Given the description of an element on the screen output the (x, y) to click on. 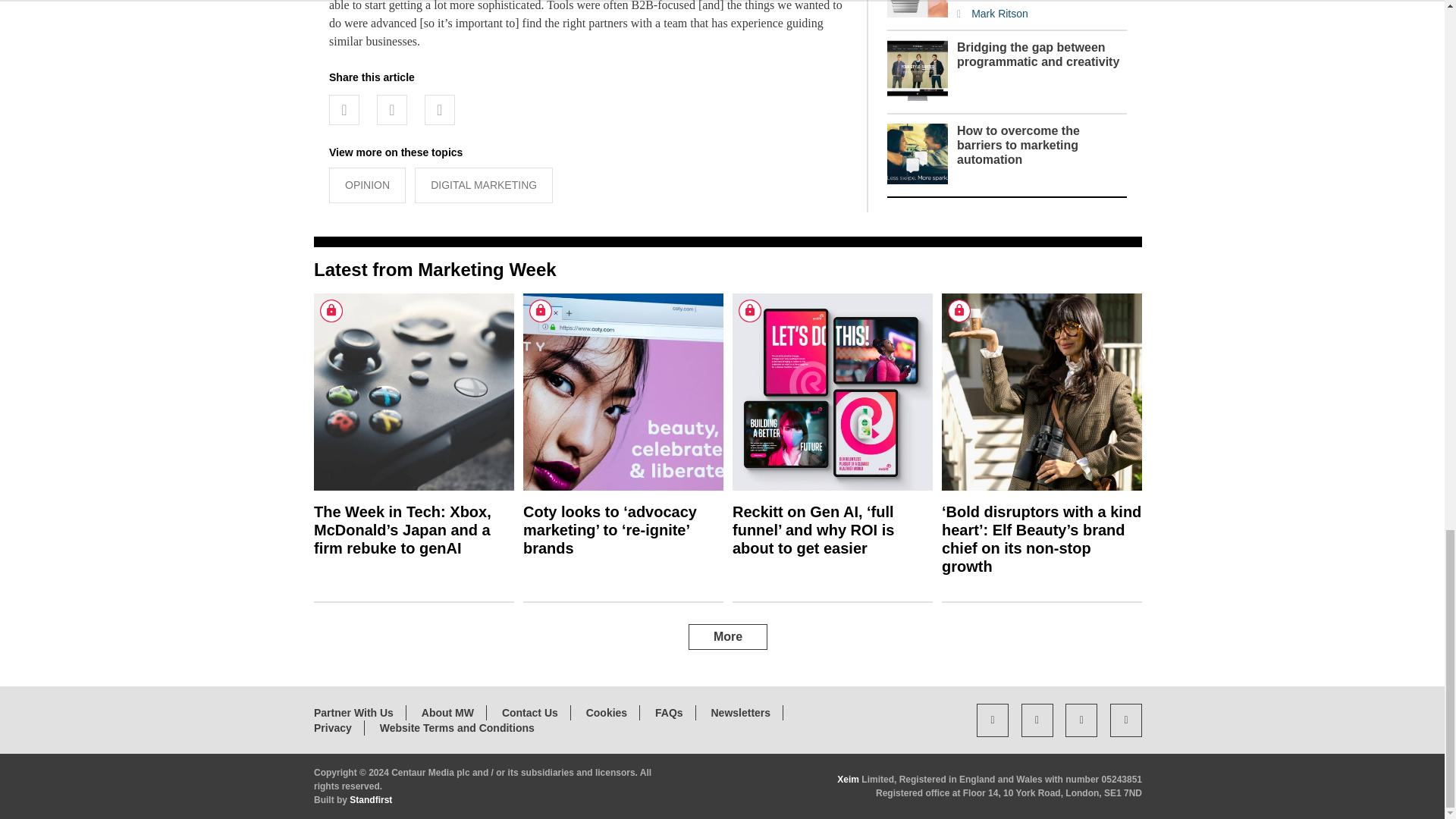
Privacy (333, 727)
OPINION (367, 185)
DIGITAL MARKETING (483, 185)
Latest from Marketing Week (435, 269)
